Given the description of an element on the screen output the (x, y) to click on. 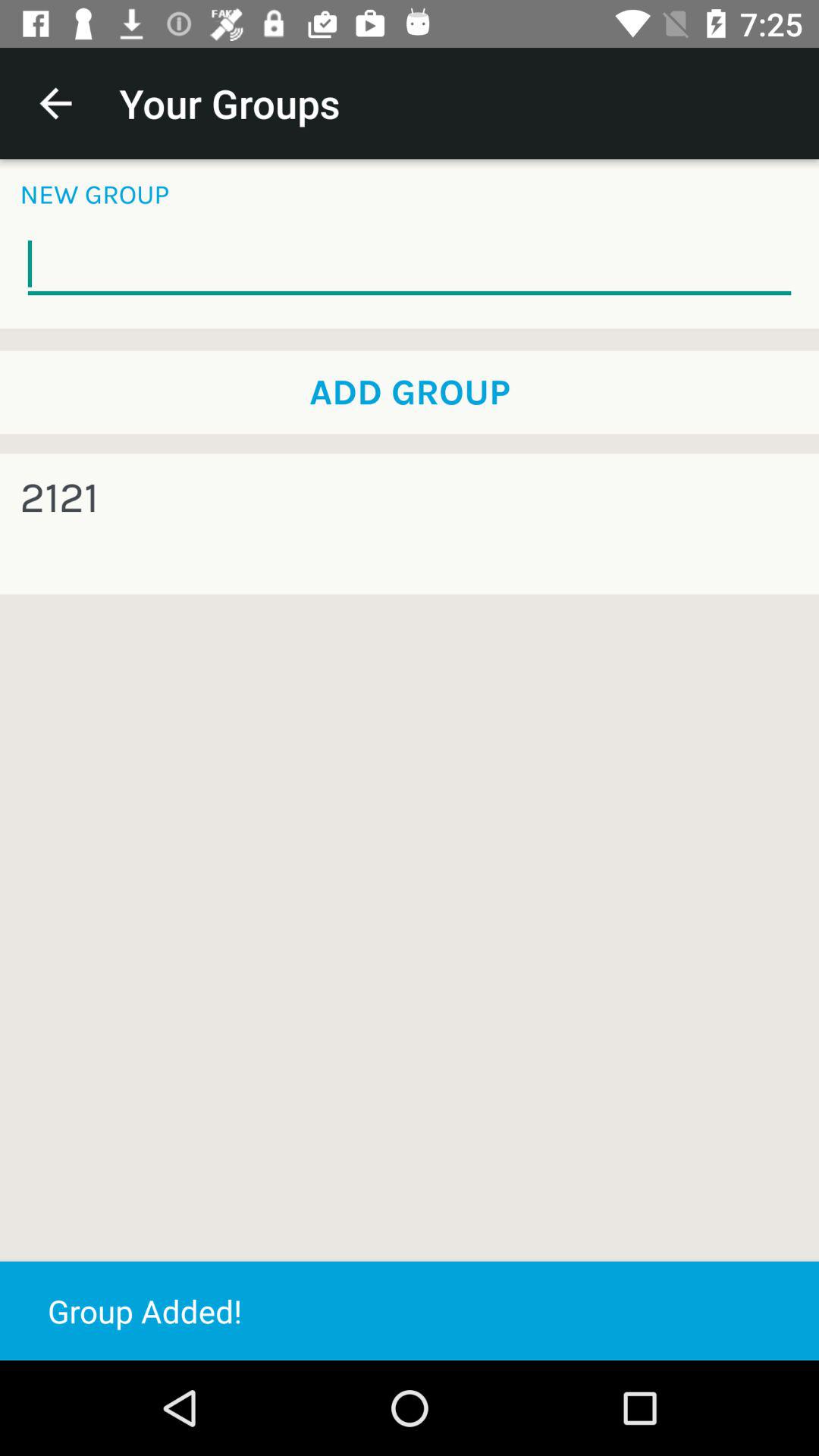
enter the new group box (409, 264)
